Given the description of an element on the screen output the (x, y) to click on. 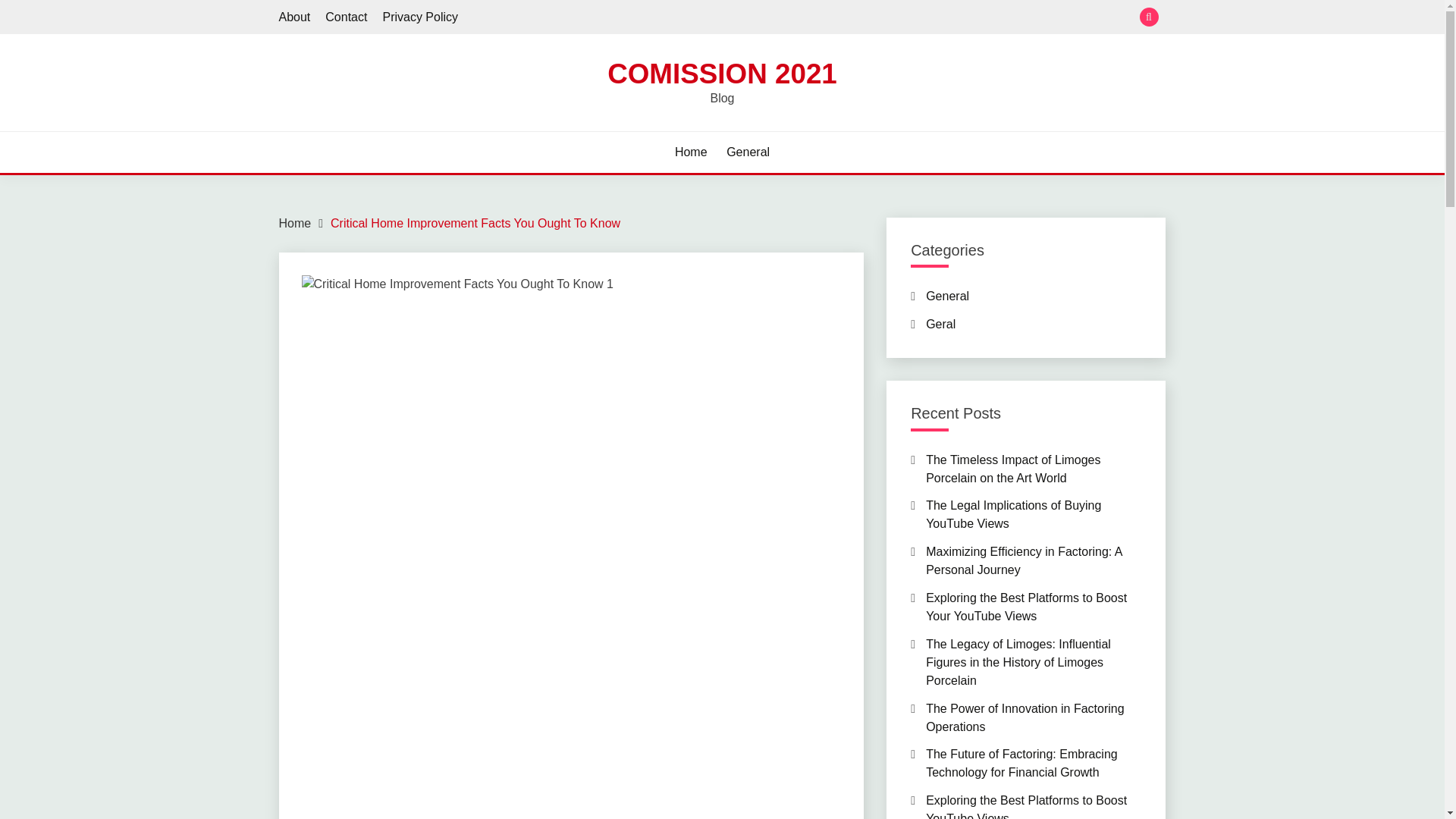
The Legal Implications of Buying YouTube Views (1013, 513)
Privacy Policy (419, 16)
Home (295, 223)
Geral (940, 323)
General (748, 152)
General (947, 295)
Contact (345, 16)
COMISSION 2021 (722, 73)
The Timeless Impact of Limoges Porcelain on the Art World (1013, 468)
Critical Home Improvement Facts You Ought To Know (475, 223)
Home (691, 152)
About (295, 16)
